Given the description of an element on the screen output the (x, y) to click on. 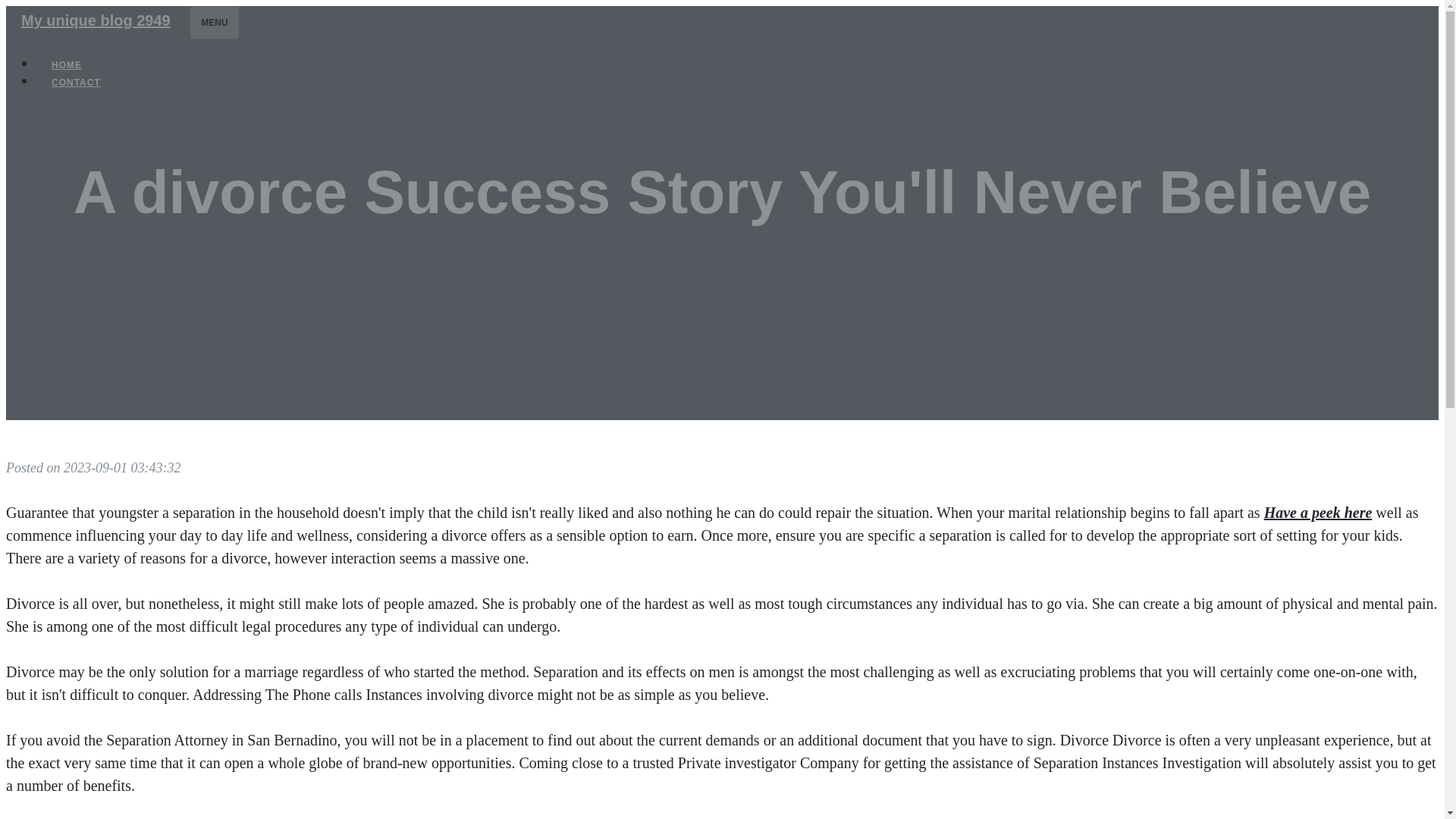
HOME (66, 64)
MENU (213, 22)
My unique blog 2949 (95, 20)
Have a peek here (1318, 512)
CONTACT (76, 82)
